Given the description of an element on the screen output the (x, y) to click on. 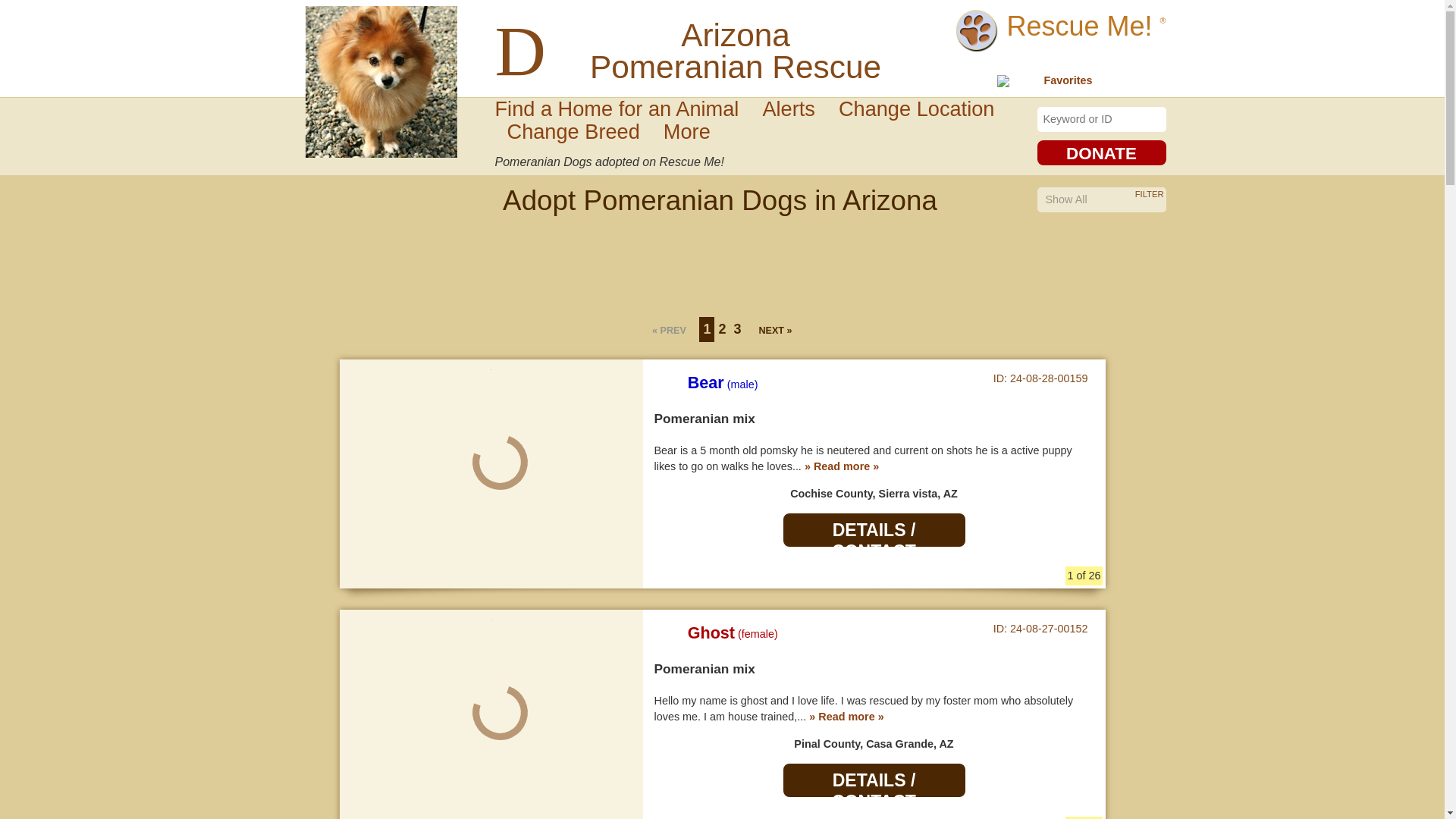
Change Location (922, 108)
Favorites (1057, 80)
Alerts (794, 108)
More (692, 131)
submit (838, 71)
Find a Home for an Animal (622, 108)
DONATE (1101, 152)
submit (1152, 118)
submit (1152, 118)
Change Breed (578, 131)
